Given the description of an element on the screen output the (x, y) to click on. 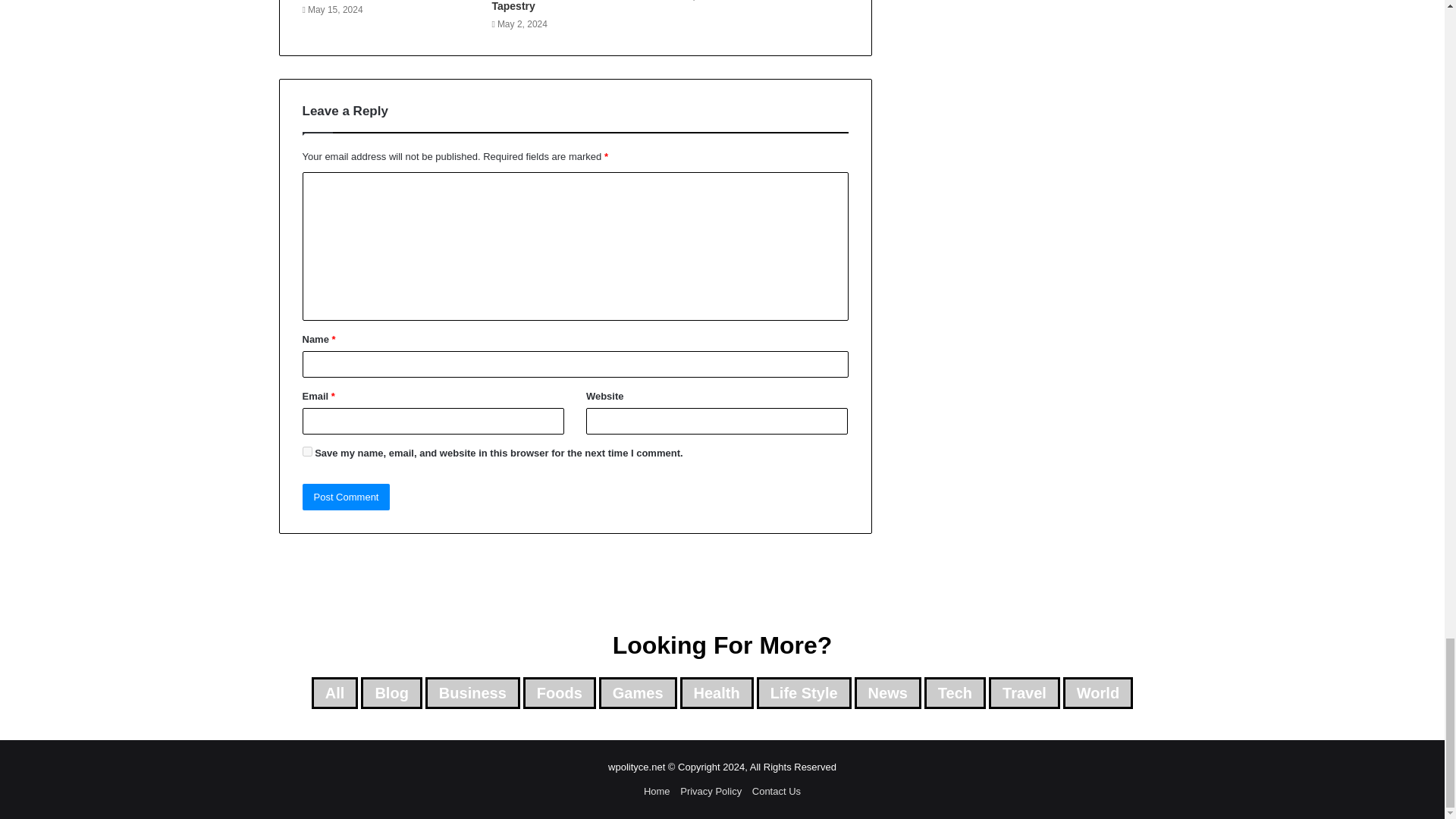
Post Comment (345, 497)
yes (306, 451)
